Given the description of an element on the screen output the (x, y) to click on. 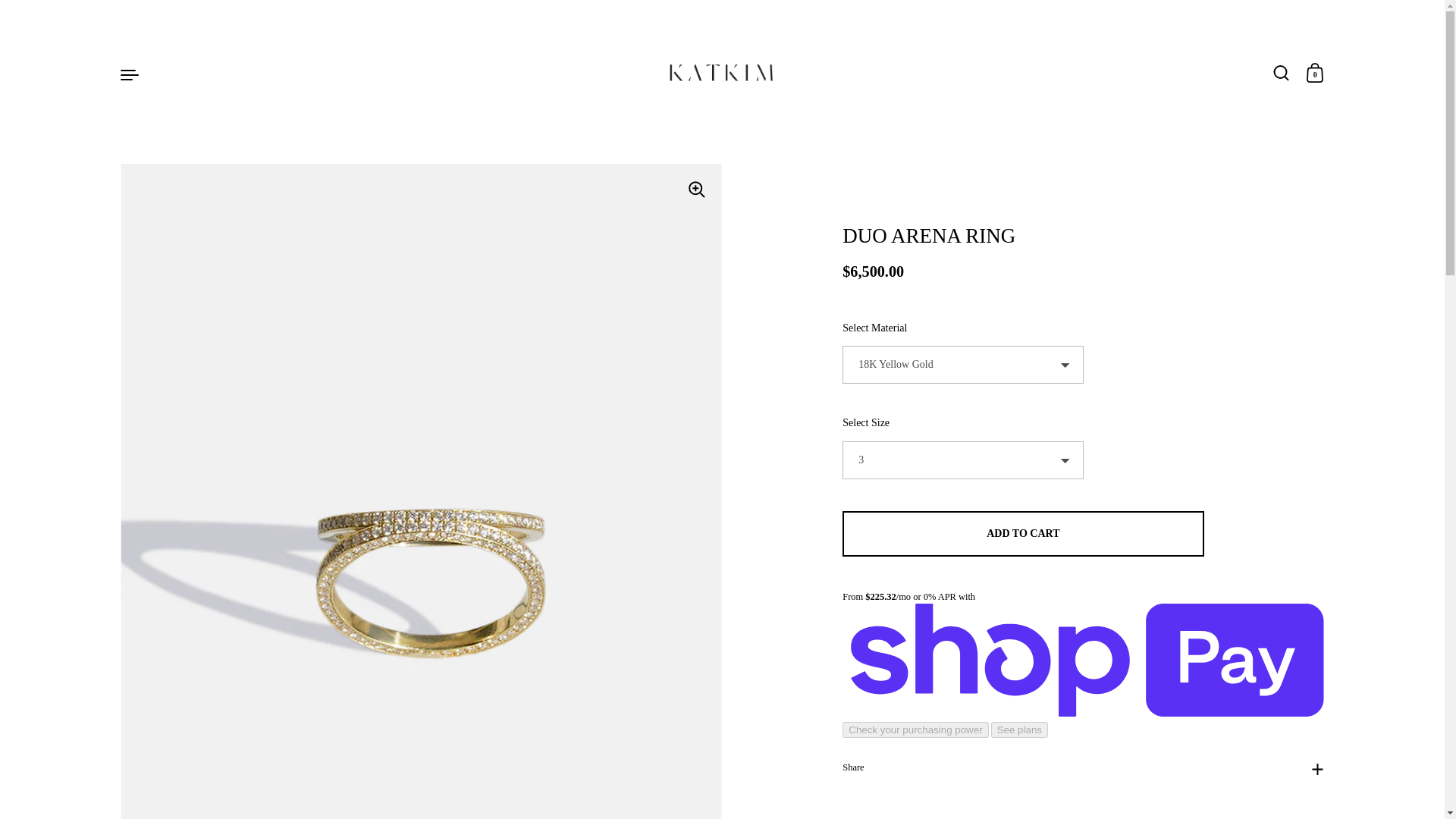
0 (1315, 73)
KATKIM (721, 73)
